Given the description of an element on the screen output the (x, y) to click on. 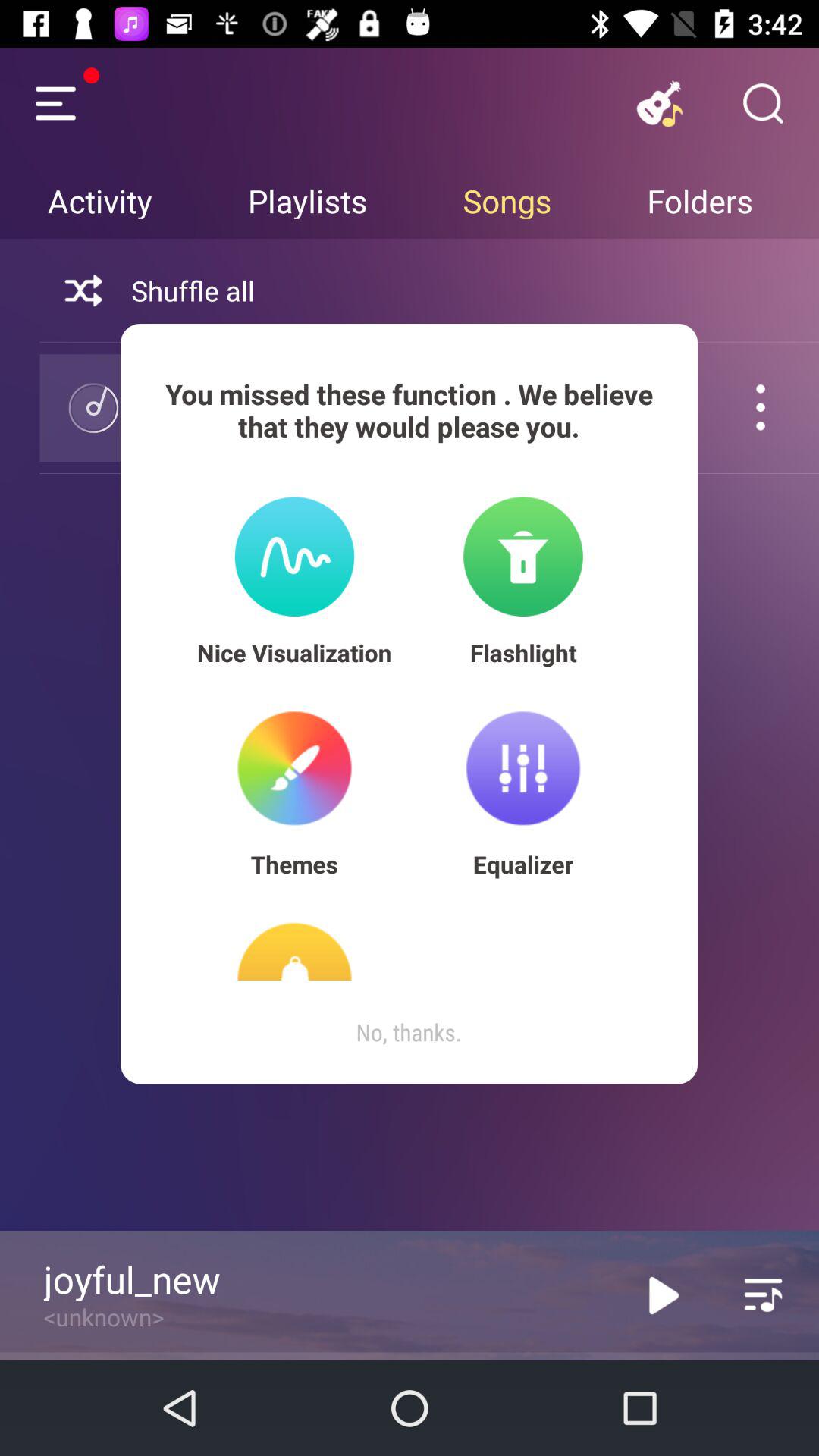
turn off the app next to the nice visualization icon (523, 652)
